Given the description of an element on the screen output the (x, y) to click on. 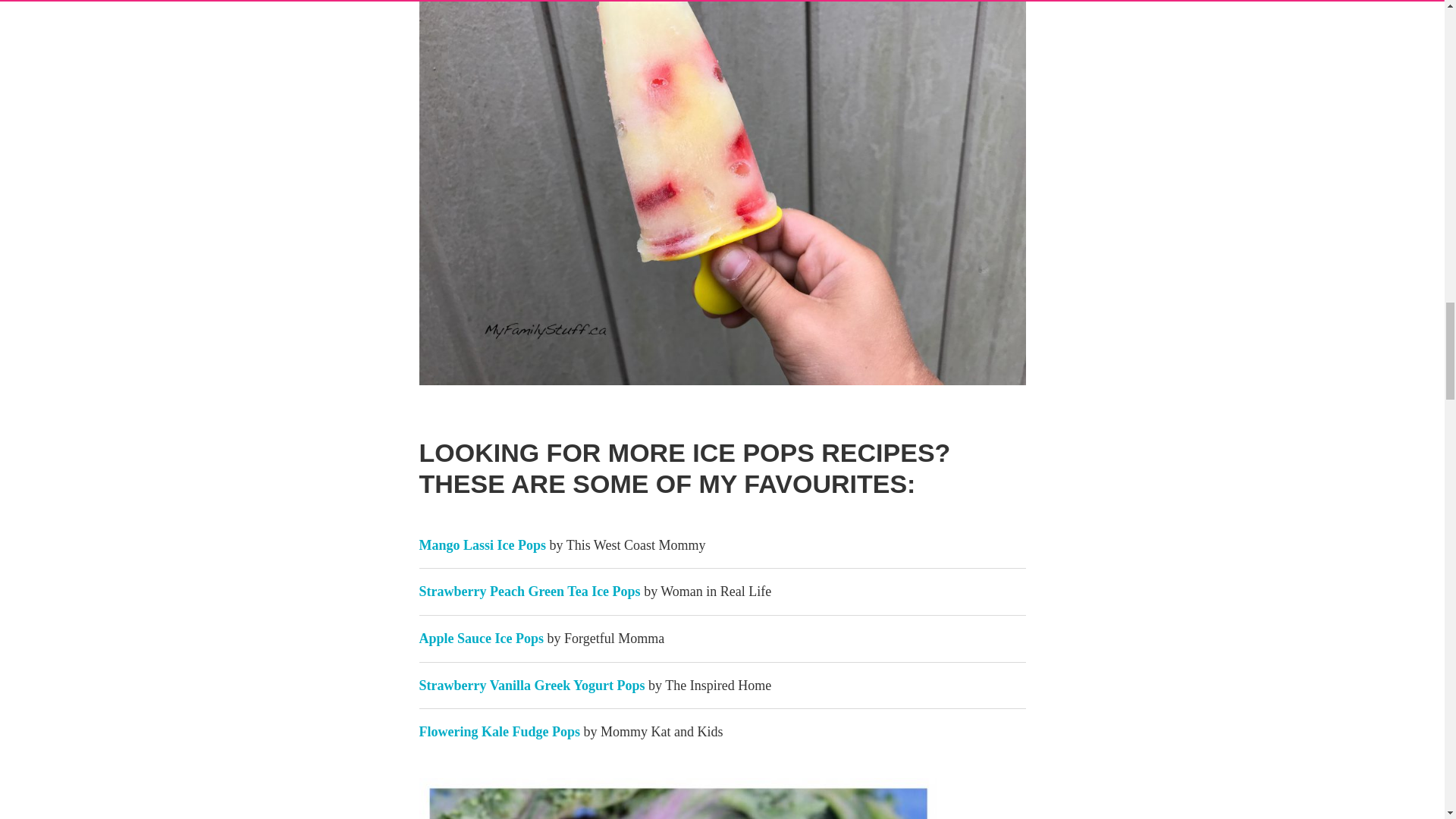
Strawberry Peach Green Tea Ice Pops (529, 590)
Flowering Kale Fudge Pops (499, 731)
Apple Sauce Ice Pops (481, 638)
Strawberry Vanilla Greek Yogurt Pops (532, 685)
Mango Lassi Ice Pops (482, 544)
